Given the description of an element on the screen output the (x, y) to click on. 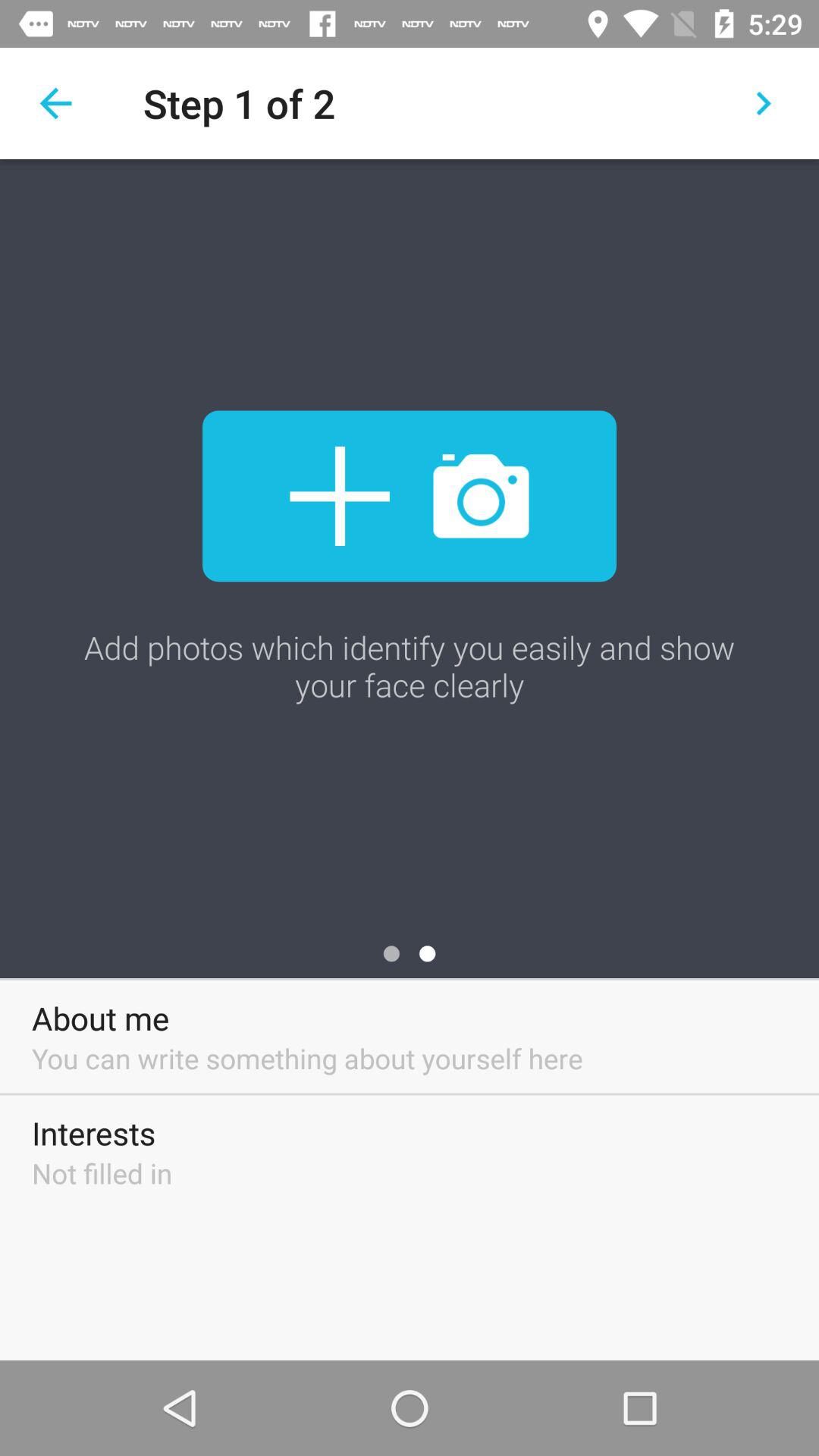
turn off the icon above add photos which icon (409, 495)
